Given the description of an element on the screen output the (x, y) to click on. 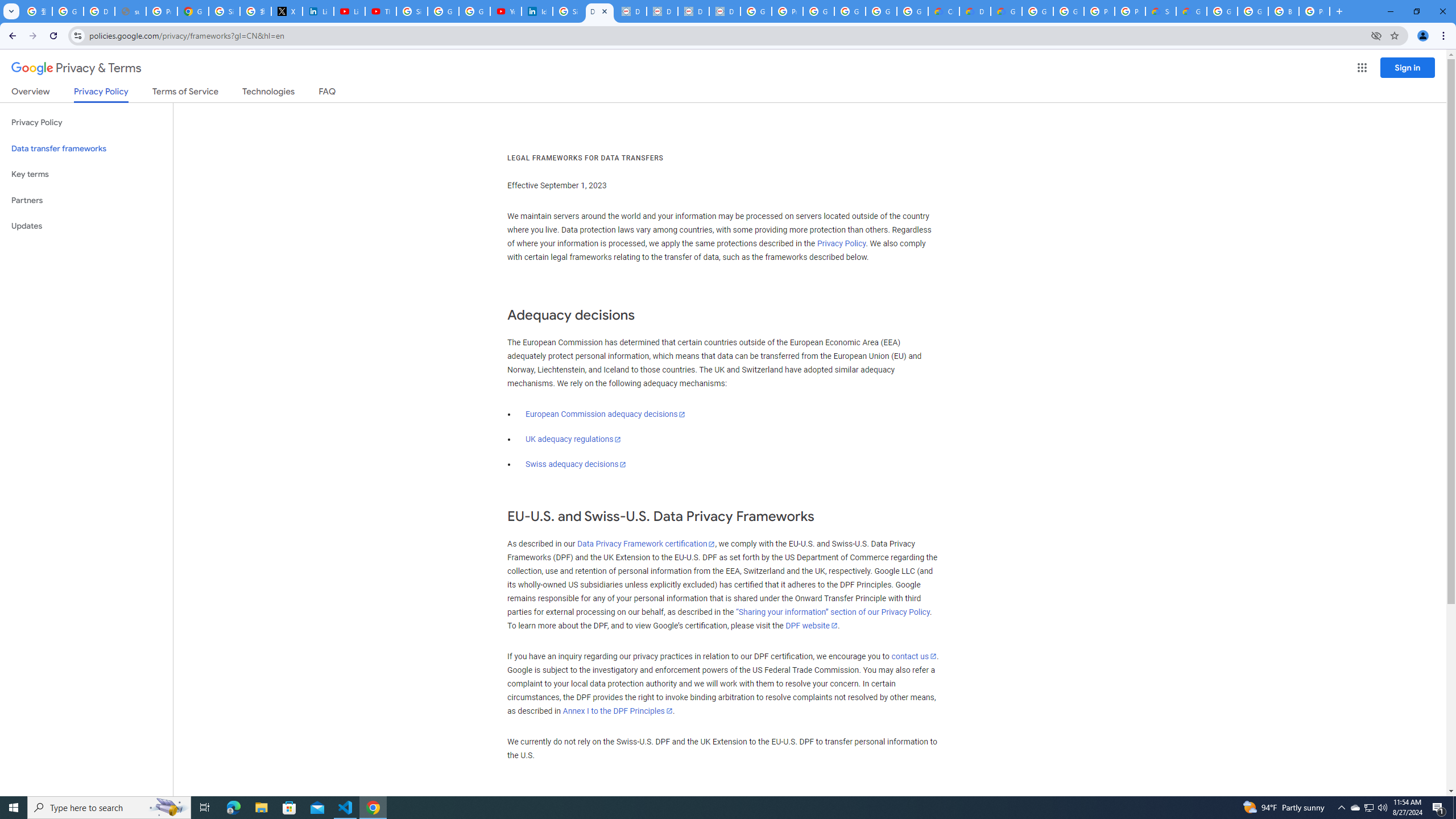
Google Workspace - Specific Terms (881, 11)
X (286, 11)
Data Privacy Framework (662, 11)
Data Privacy Framework (631, 11)
Swiss adequacy decisions (575, 464)
